Given the description of an element on the screen output the (x, y) to click on. 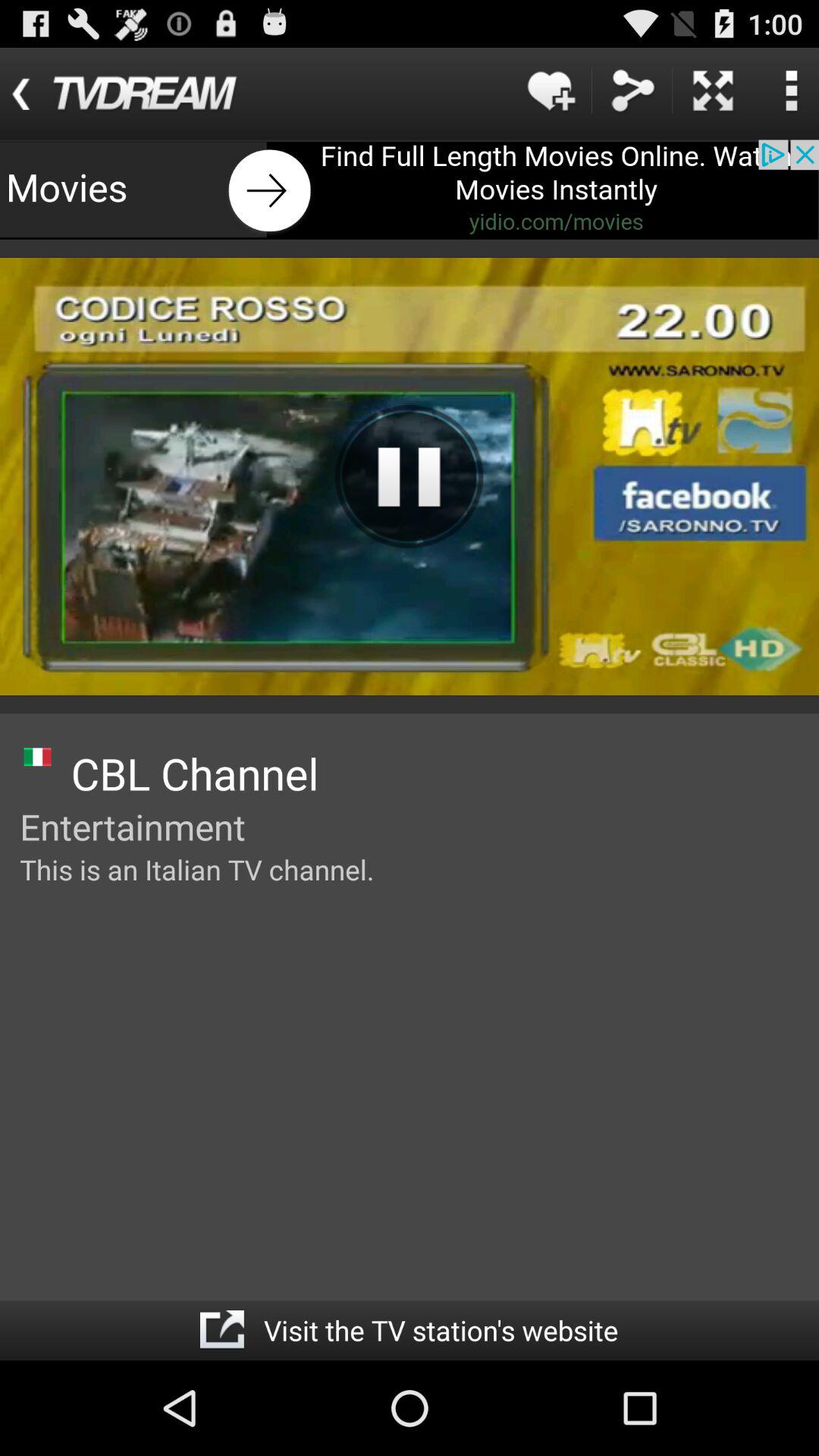
zoom out option (712, 90)
